Given the description of an element on the screen output the (x, y) to click on. 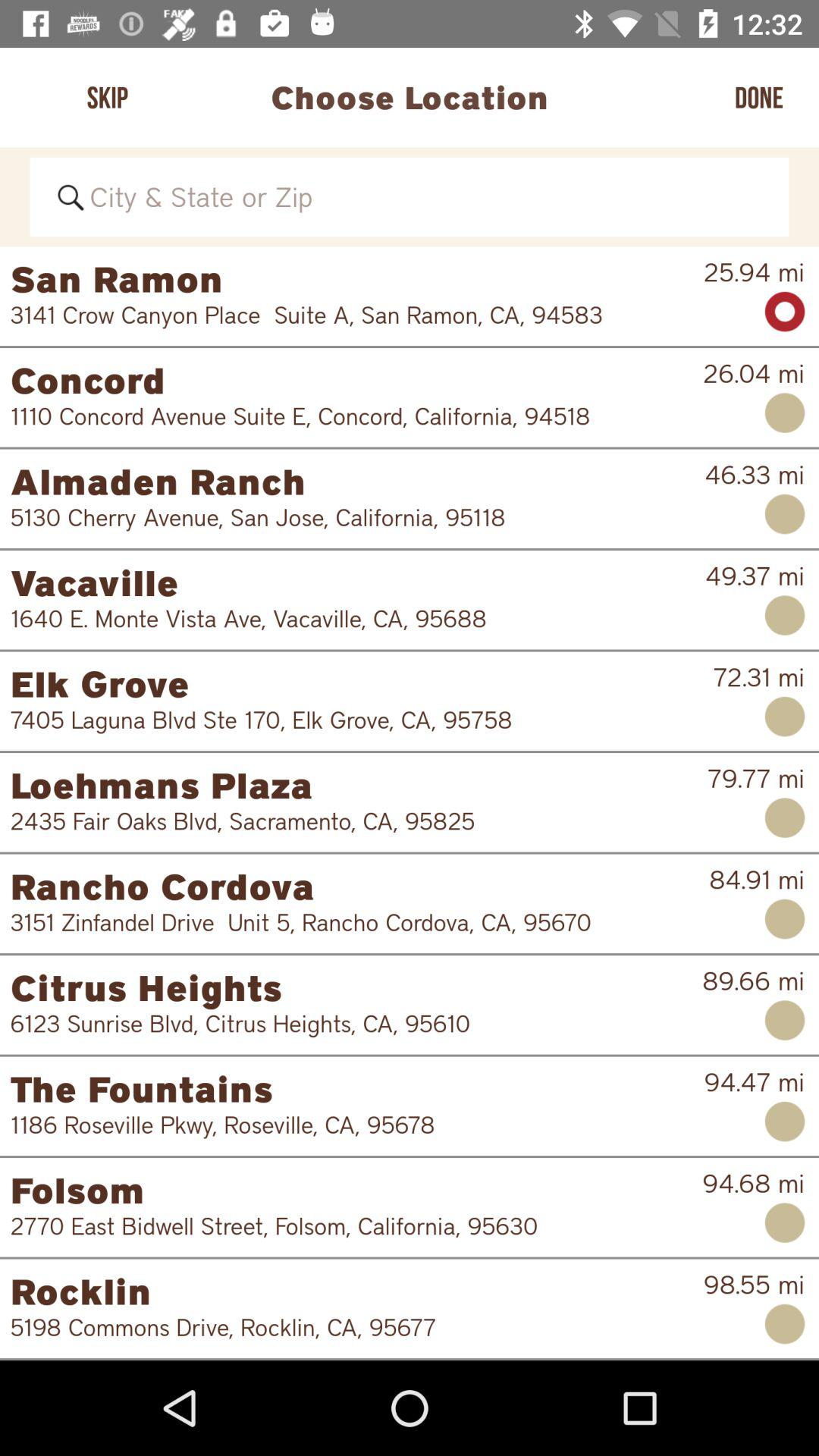
turn on 2770 east bidwell item (346, 1226)
